Given the description of an element on the screen output the (x, y) to click on. 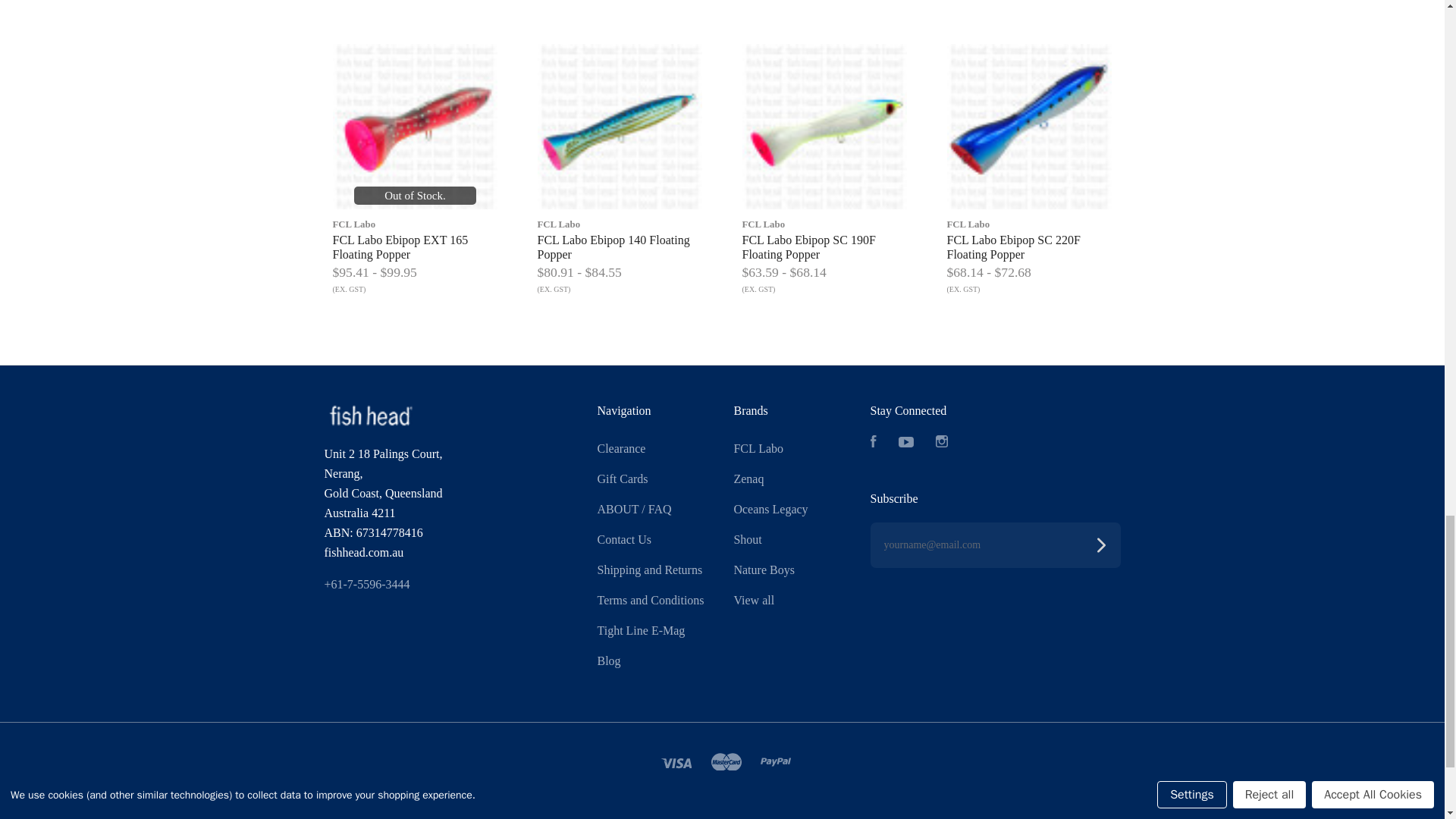
FCL Labo Ebipop SC 190F Floating Popper (824, 126)
FCL Labo Ebipop SC 220F Floating Popper (1029, 126)
FCL Labo Ebipop EXT 165 Floating Popper (414, 126)
YouTube (905, 442)
youtube (905, 441)
Instagram (941, 442)
. (369, 415)
FCL Labo Ebipop 140 Floating Popper (619, 126)
instagram (941, 440)
